Given the description of an element on the screen output the (x, y) to click on. 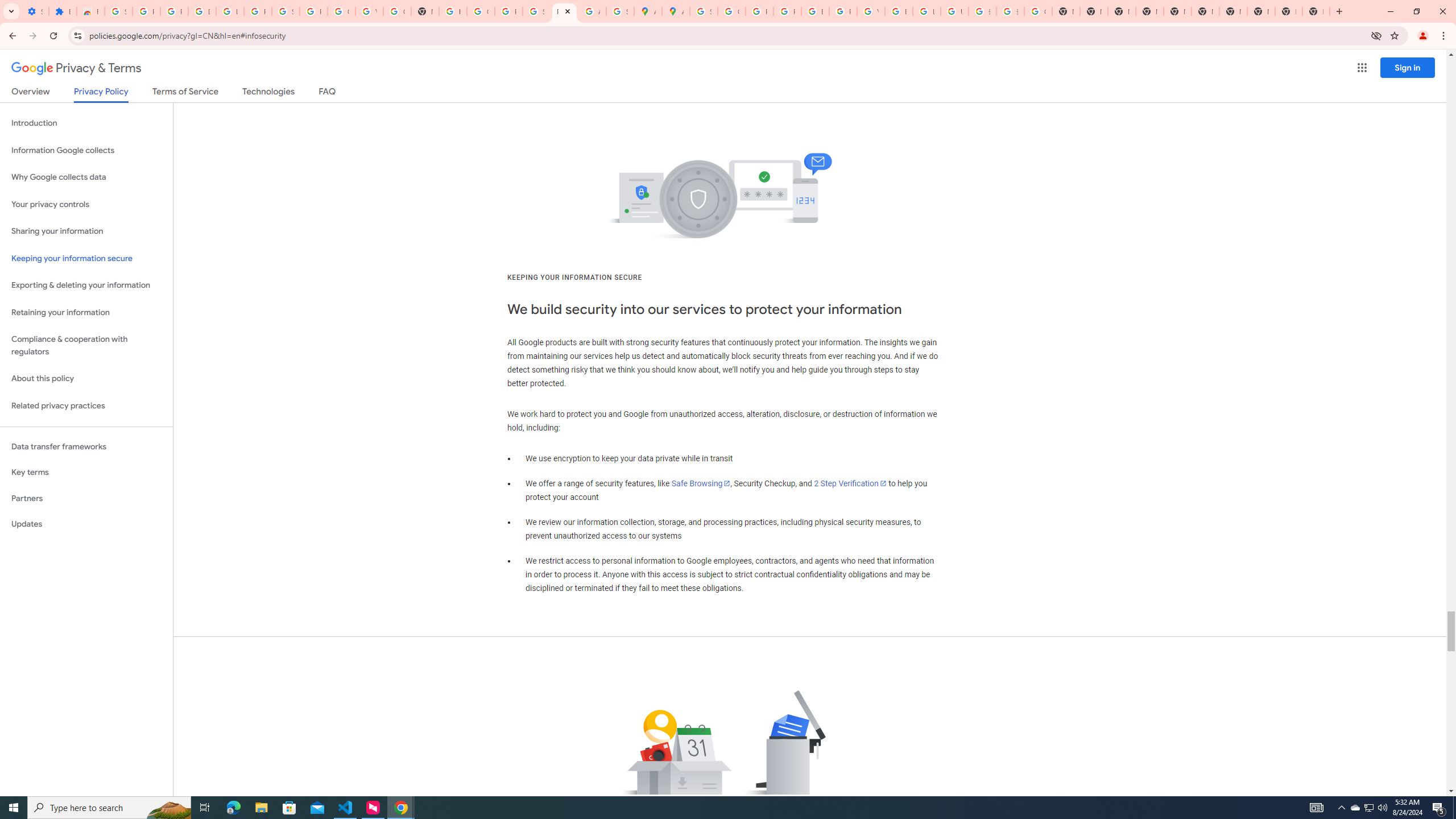
Information Google collects (86, 150)
Settings - On startup (34, 11)
Retaining your information (86, 312)
Privacy Help Center - Policies Help (787, 11)
Keeping your information secure (86, 258)
New Tab (1316, 11)
